Given the description of an element on the screen output the (x, y) to click on. 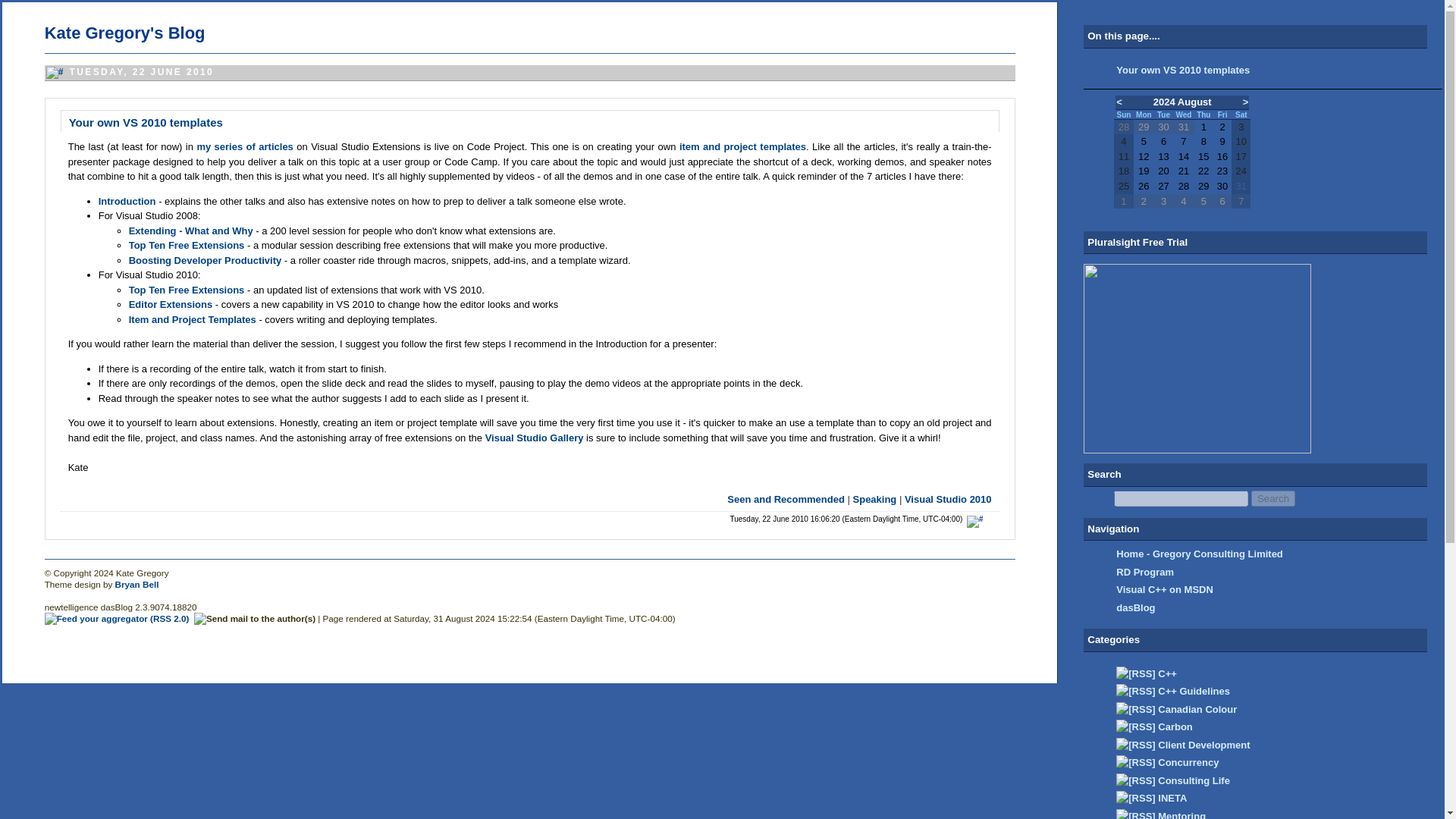
Search (1272, 498)
Carbon (1174, 726)
Speaking (874, 499)
Home - Gregory Consulting Limited (1199, 553)
Visual Studio Gallery (533, 437)
Canadian Colour (1196, 708)
Top Ten Free Extensions (186, 288)
Your own VS 2010 templates (1182, 70)
Top Ten Free Extensions (186, 244)
Seen and Recommended (785, 499)
